Given the description of an element on the screen output the (x, y) to click on. 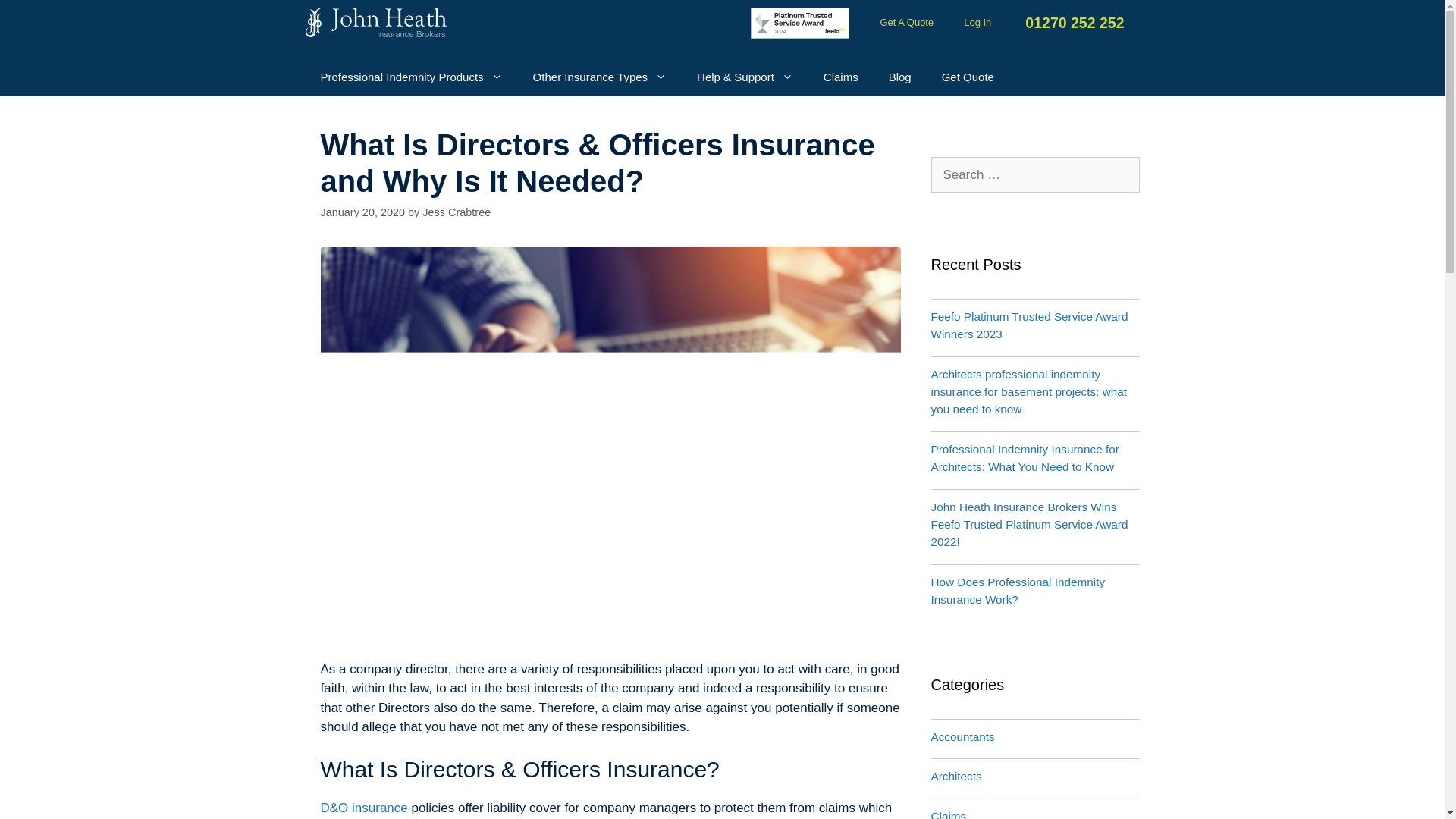
Search for: (1035, 175)
01270 252 252 (1072, 23)
View all posts by Jess Crabtree (456, 212)
Log In (977, 22)
Get A Quote (906, 22)
